Given the description of an element on the screen output the (x, y) to click on. 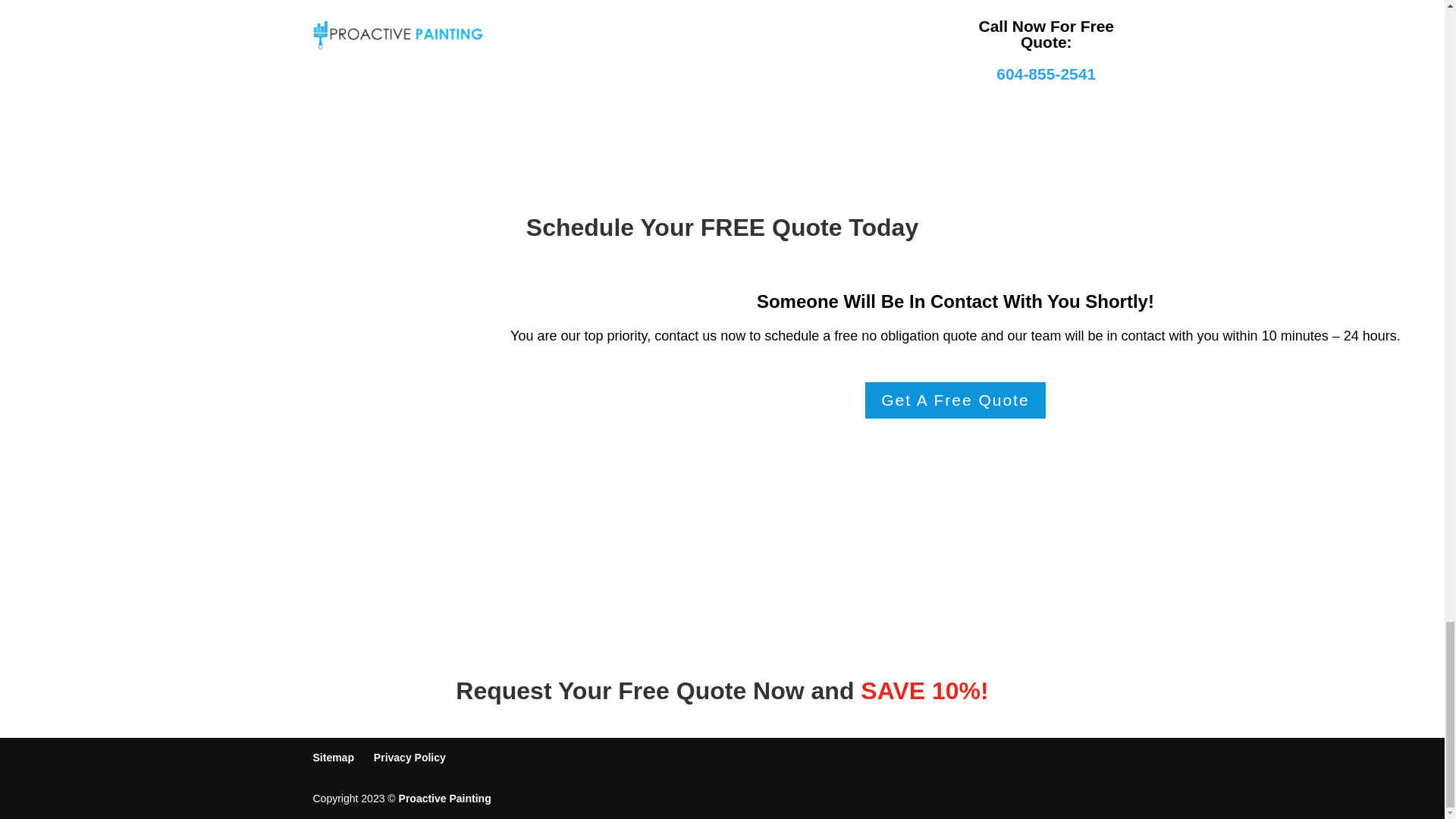
Sitemap (333, 757)
Get A Free Quote (954, 400)
Privacy Policy (409, 757)
Privacy Policy (409, 757)
24 hour Estimate (255, 402)
Proactive Painting (445, 798)
